Given the description of an element on the screen output the (x, y) to click on. 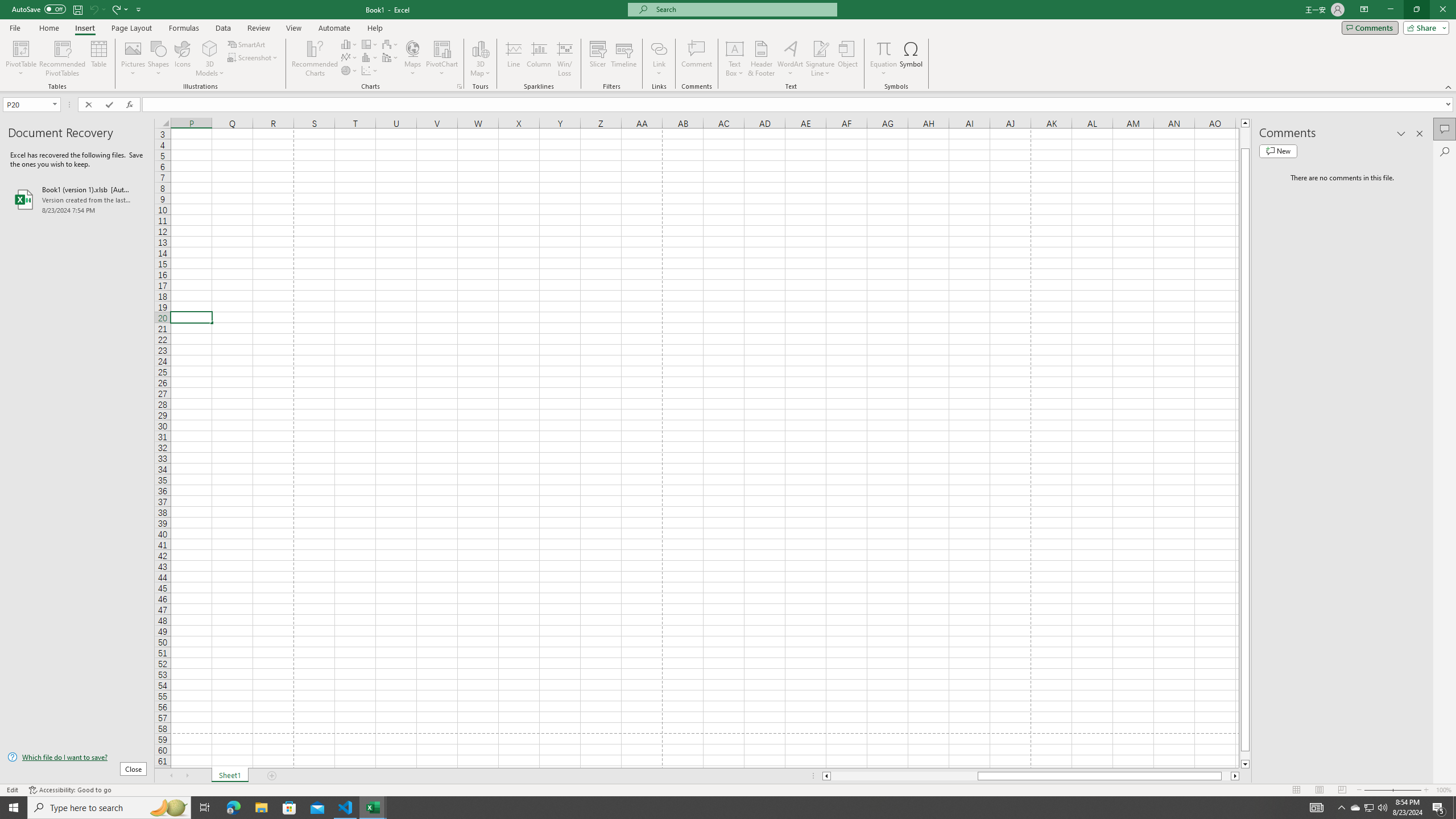
Insert Pie or Doughnut Chart (349, 69)
WordArt (790, 58)
Insert Column or Bar Chart (349, 44)
Line (513, 58)
Signature Line (820, 48)
Win/Loss (564, 58)
